Given the description of an element on the screen output the (x, y) to click on. 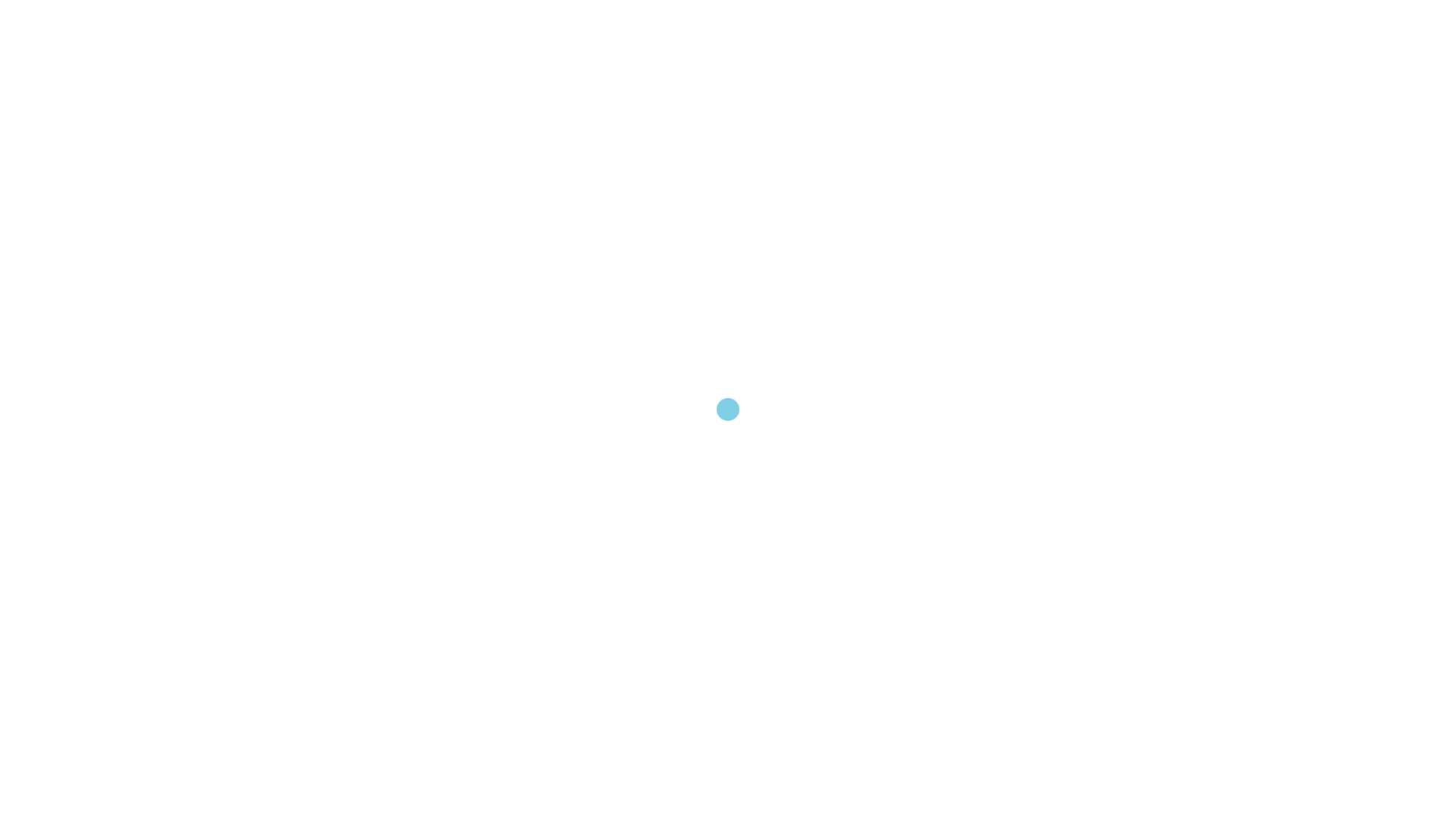
Wat Wel Element type: text (908, 98)
Privacy Element type: text (312, 583)
Wettelijke Info Element type: text (1052, 98)
Contact Element type: text (1129, 98)
Wat Niet Element type: text (973, 98)
Home Element type: text (851, 98)
Advocaten Cansse Element type: hover (371, 96)
